Given the description of an element on the screen output the (x, y) to click on. 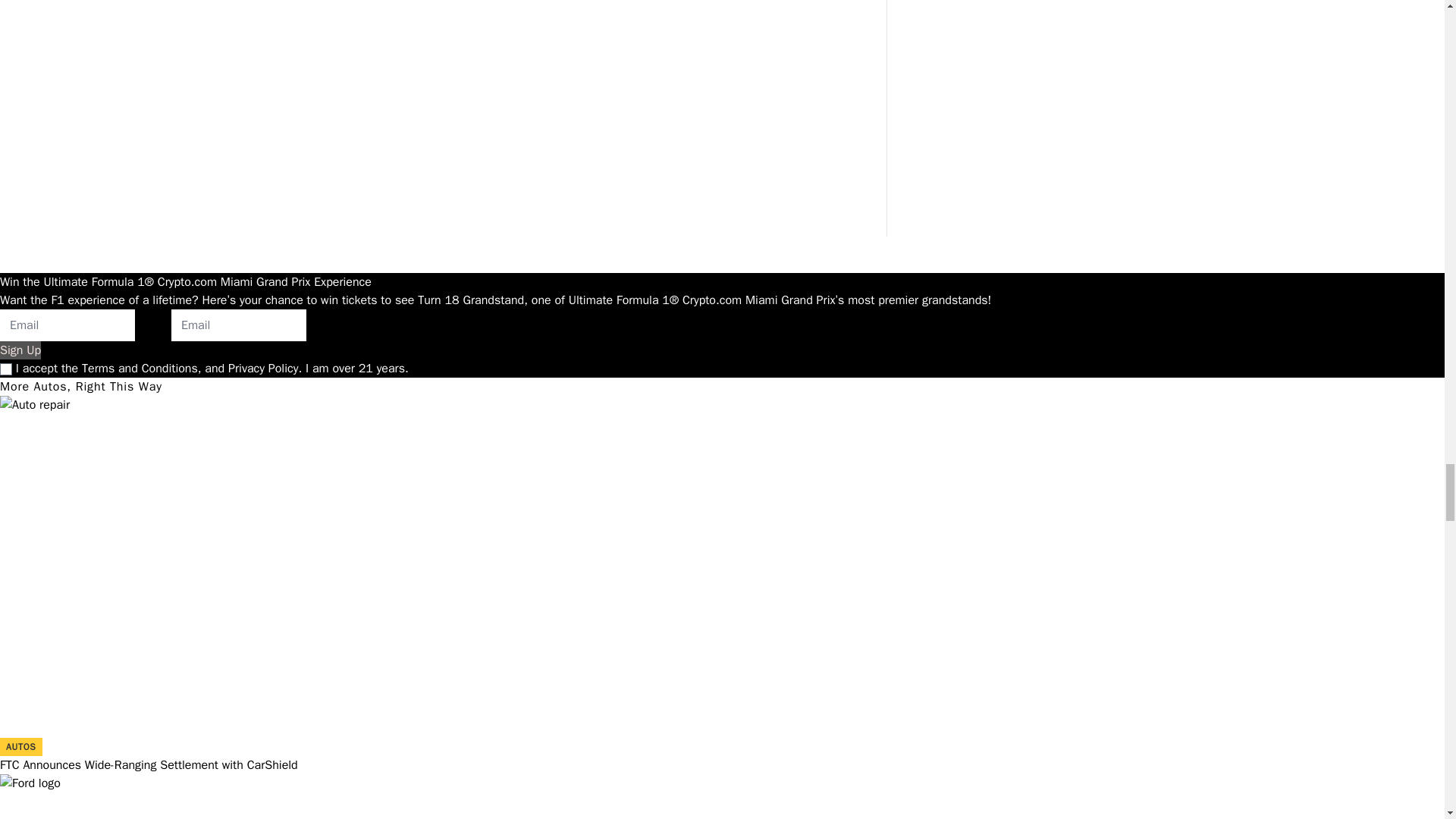
on (5, 369)
